Given the description of an element on the screen output the (x, y) to click on. 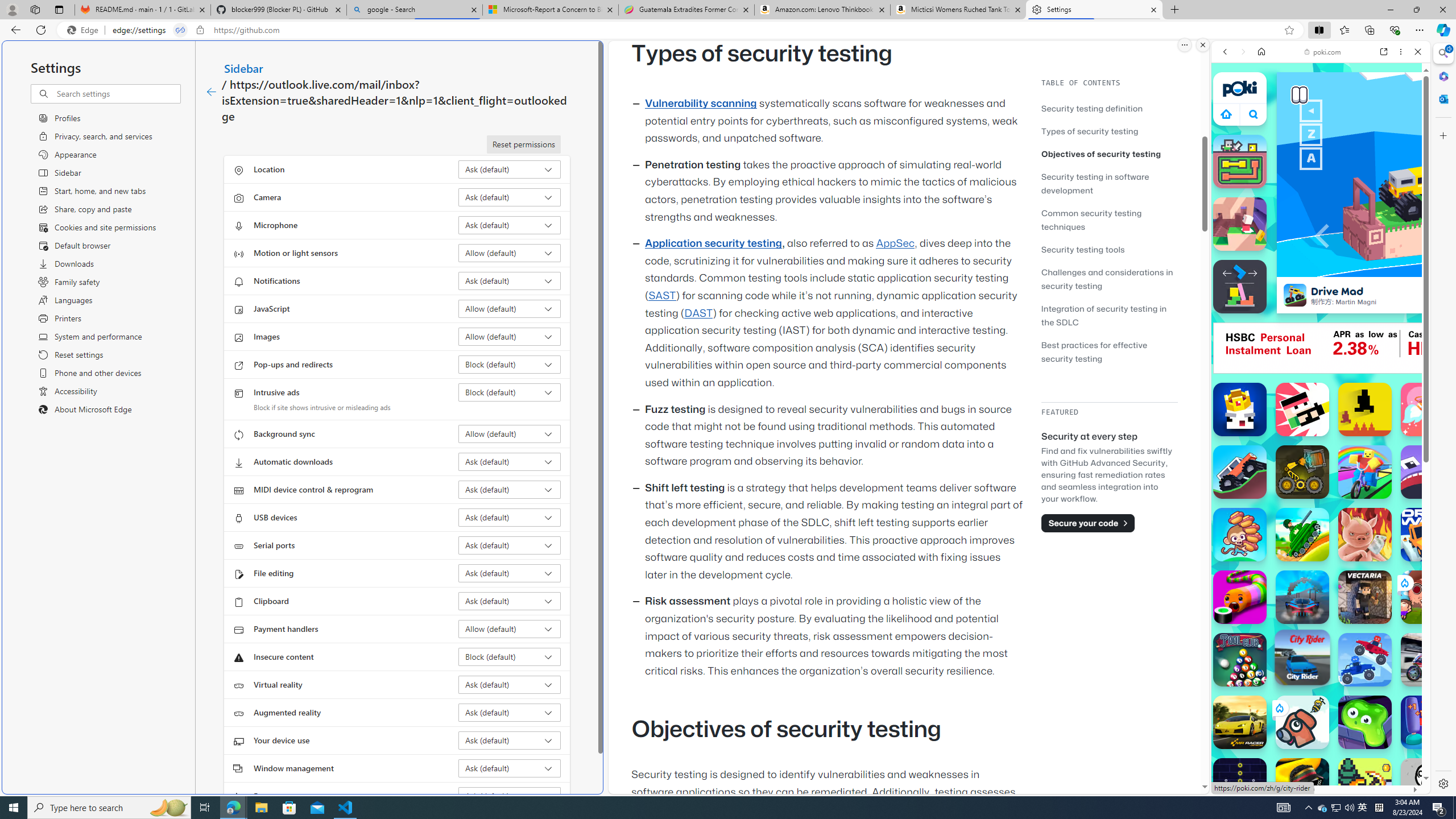
Augmented reality Ask (default) (509, 712)
Window management Ask (default) (509, 768)
Combat Reloaded (1349, 523)
Blumgi Rocket (1427, 409)
Search results from poki.com (1299, 443)
Hills of Steel (1264, 580)
Stacktris Stacktris (1239, 286)
Recoil (1302, 409)
Neon War (1239, 784)
Monster Tracks (1239, 471)
Types of security testing (1109, 130)
